Given the description of an element on the screen output the (x, y) to click on. 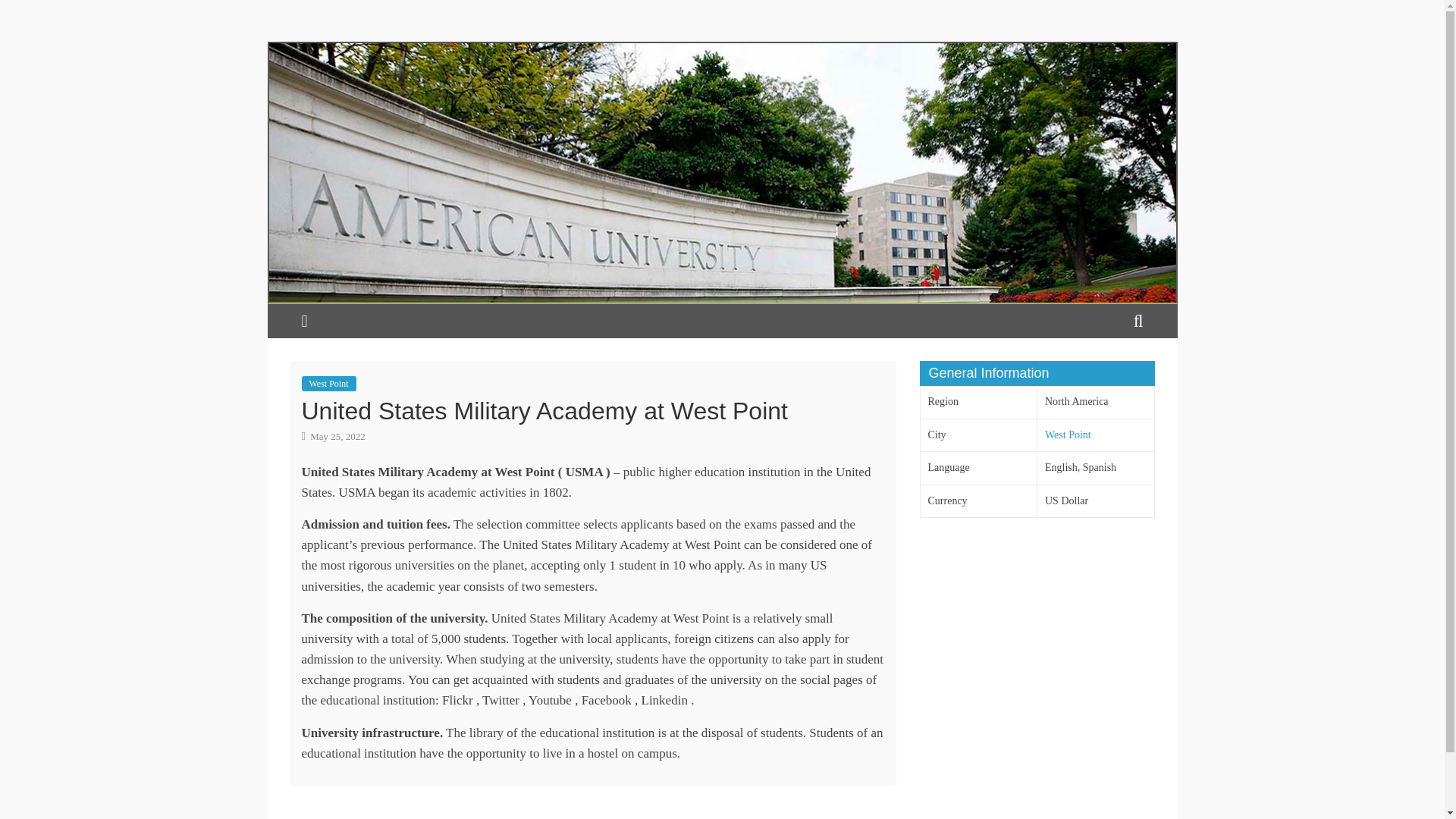
11:31 am (333, 436)
West Point (328, 383)
universityrankings.observer (721, 51)
West Point (1067, 434)
May 25, 2022 (333, 436)
